Given the description of an element on the screen output the (x, y) to click on. 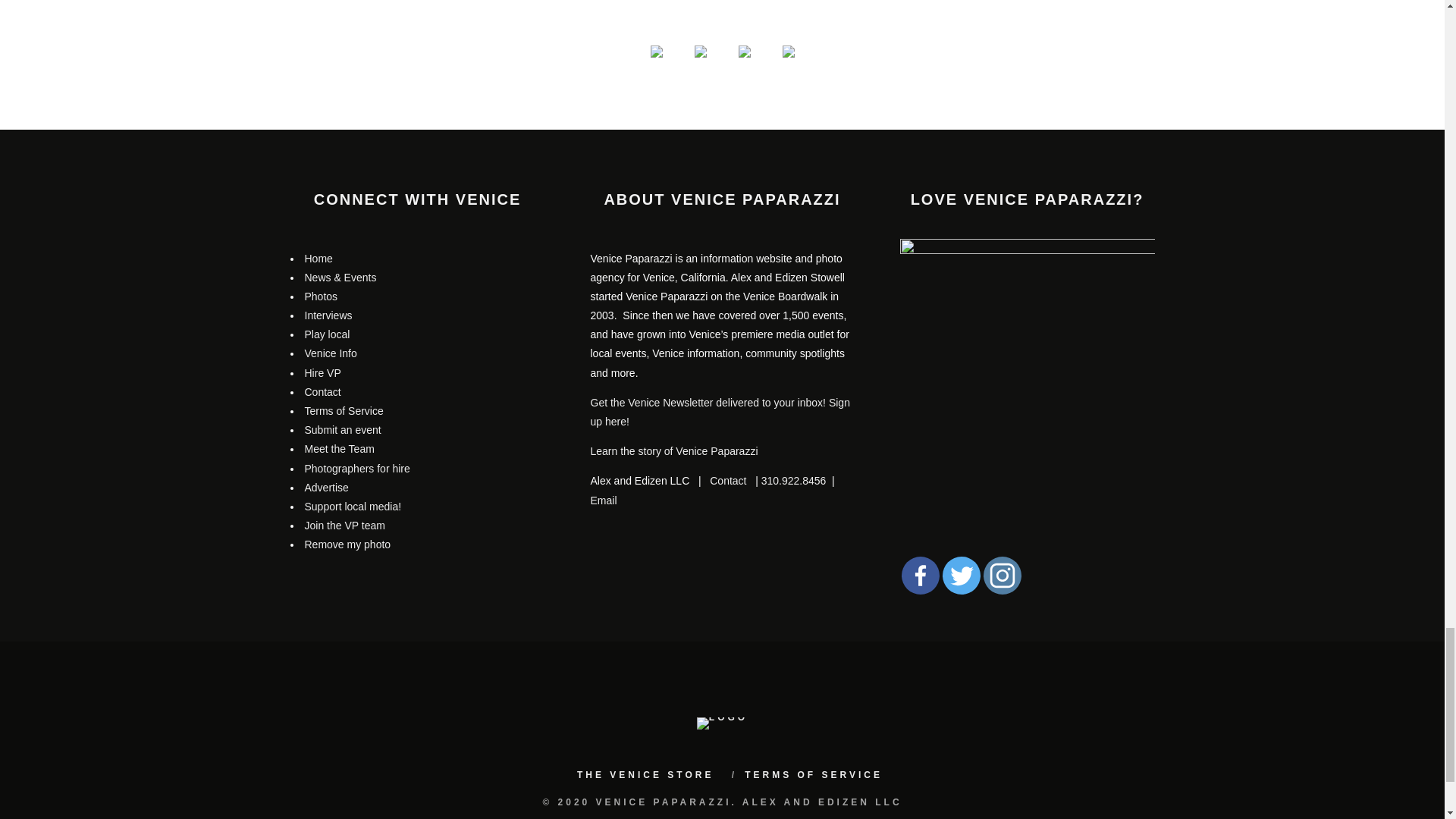
Twitter (960, 575)
Instagram (1001, 575)
Facebook (920, 575)
